Given the description of an element on the screen output the (x, y) to click on. 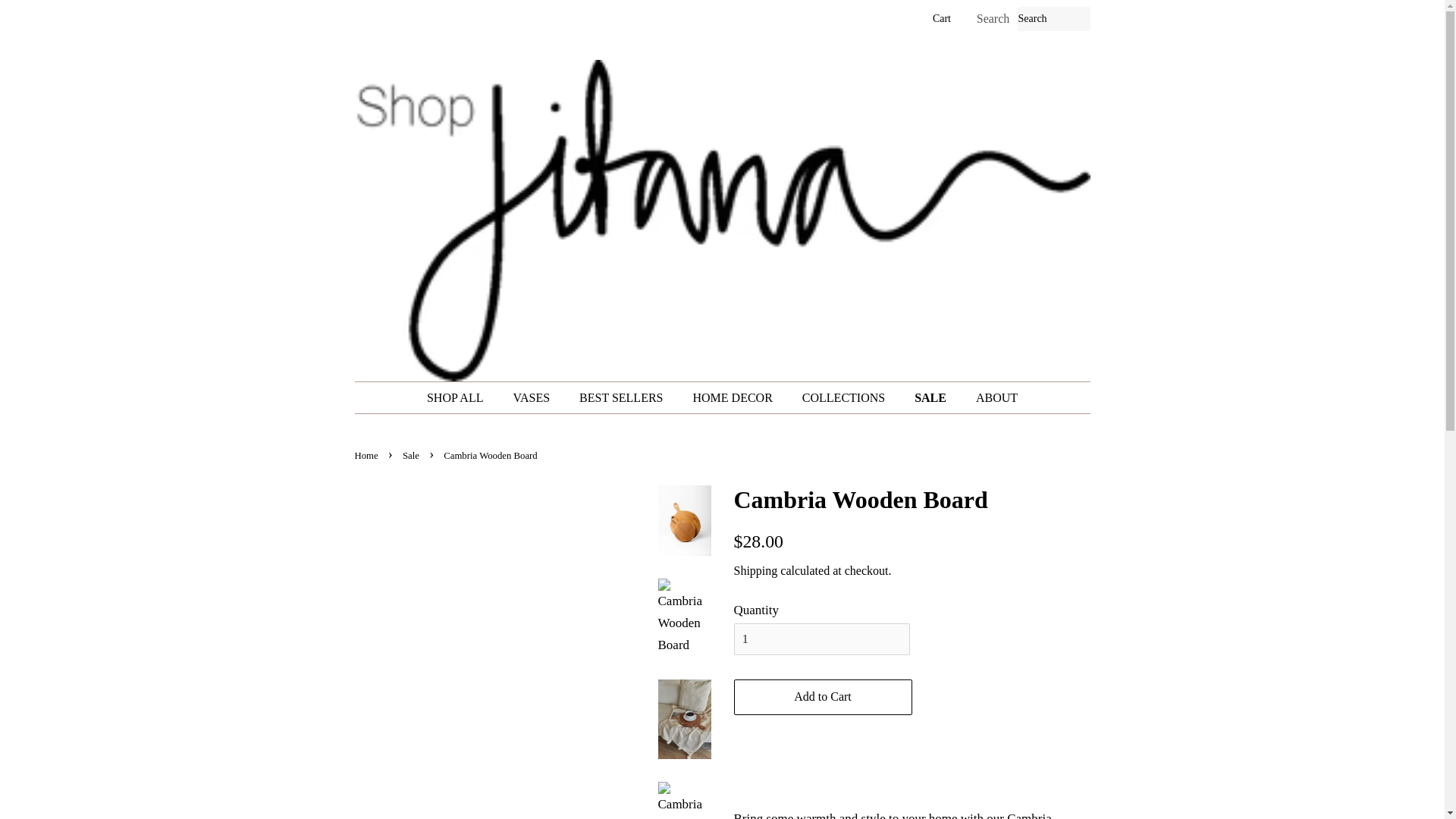
Search (993, 18)
VASES (532, 397)
1 (821, 639)
HOME DECOR (734, 397)
Cart (941, 18)
SHOP ALL (462, 397)
Back to the frontpage (368, 455)
BEST SELLERS (622, 397)
